Given the description of an element on the screen output the (x, y) to click on. 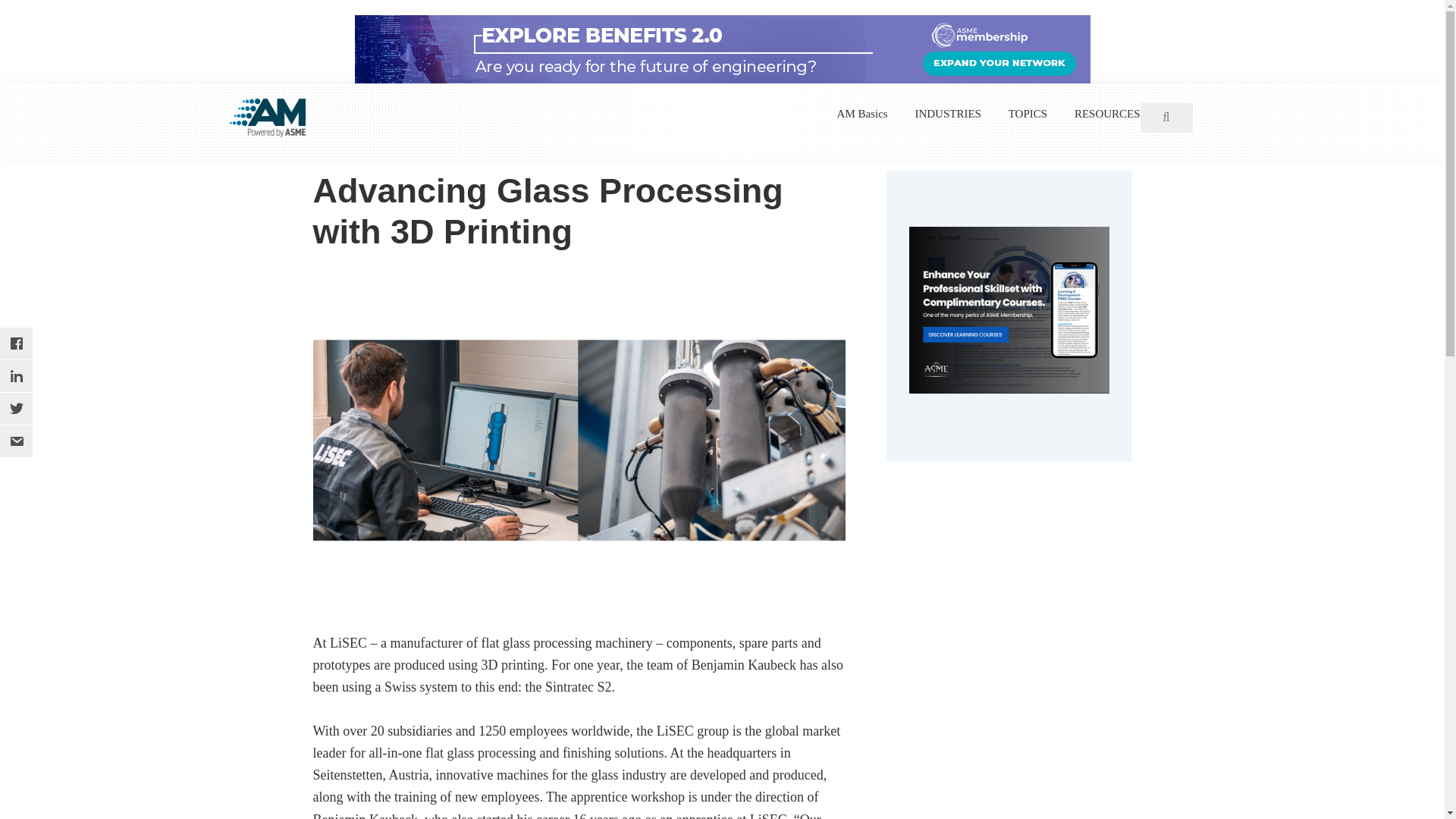
TOPICS (1027, 113)
INDUSTRIES (947, 113)
AM Basics (862, 113)
RESOURCES (1107, 113)
